Given the description of an element on the screen output the (x, y) to click on. 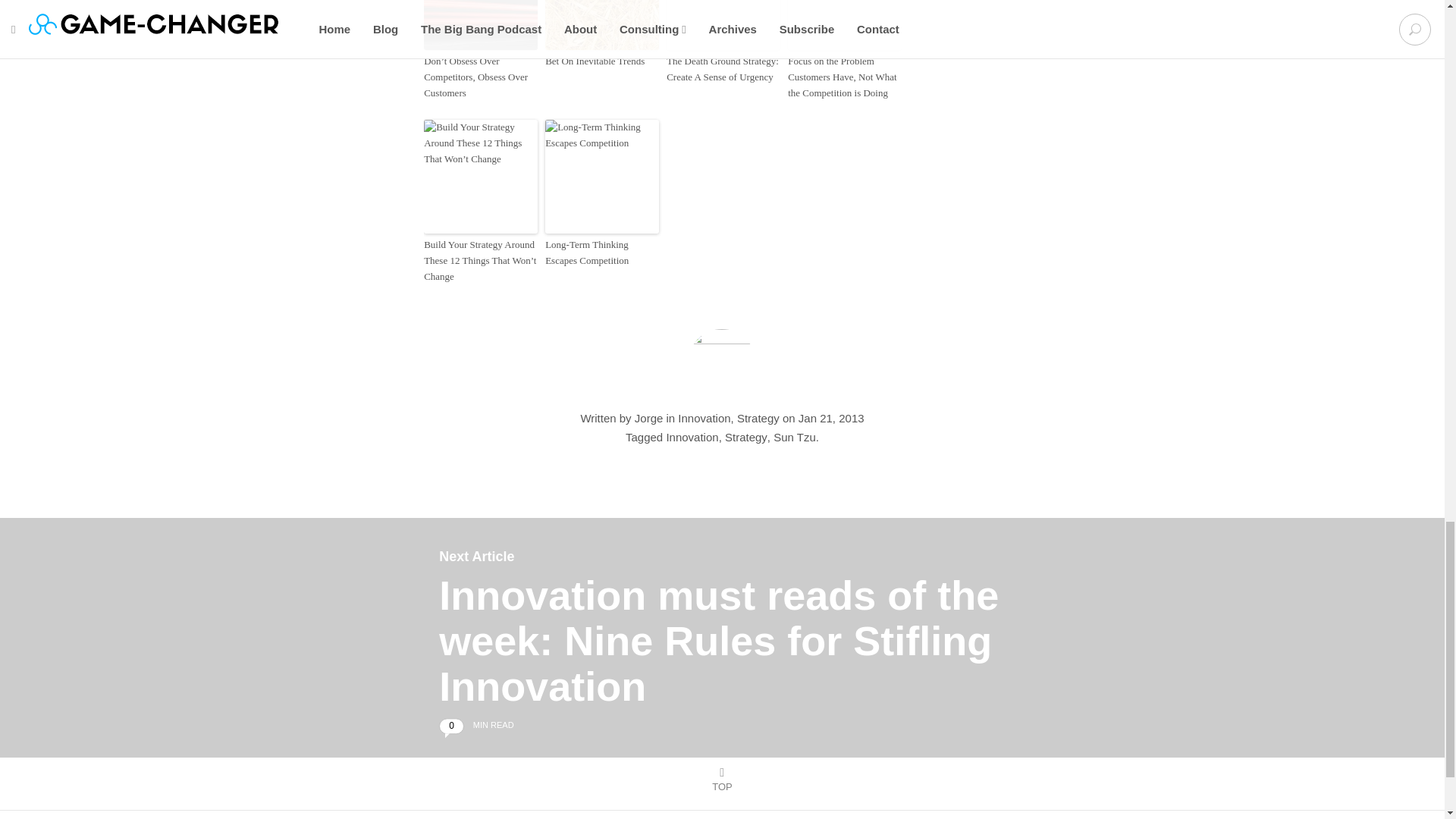
View all posts by Jorge (648, 418)
